Given the description of an element on the screen output the (x, y) to click on. 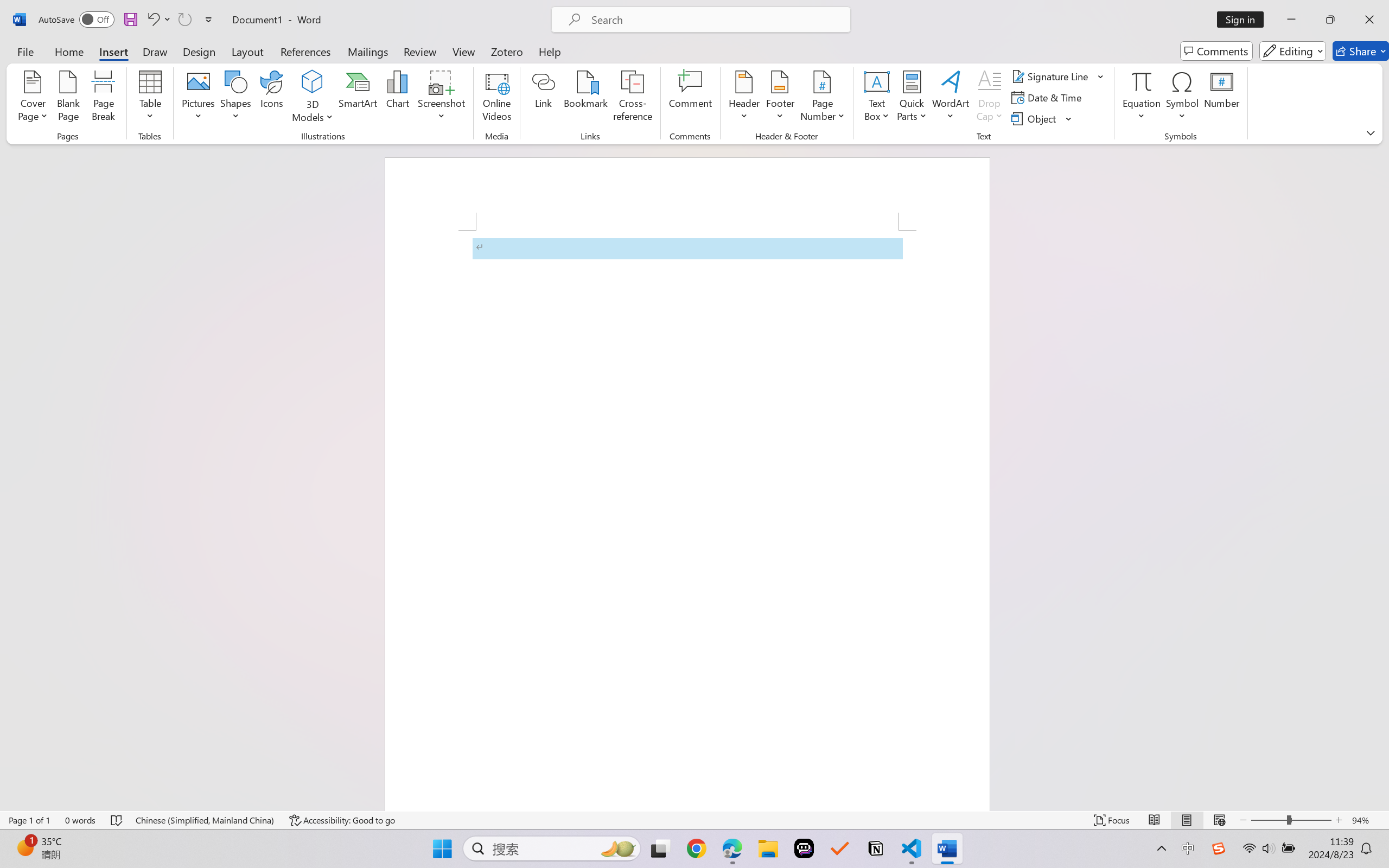
Blank Page (67, 97)
Can't Repeat (184, 19)
Bookmark... (585, 97)
Sign in (1244, 19)
Cross-reference... (632, 97)
WordArt (950, 97)
Table (149, 97)
